Given the description of an element on the screen output the (x, y) to click on. 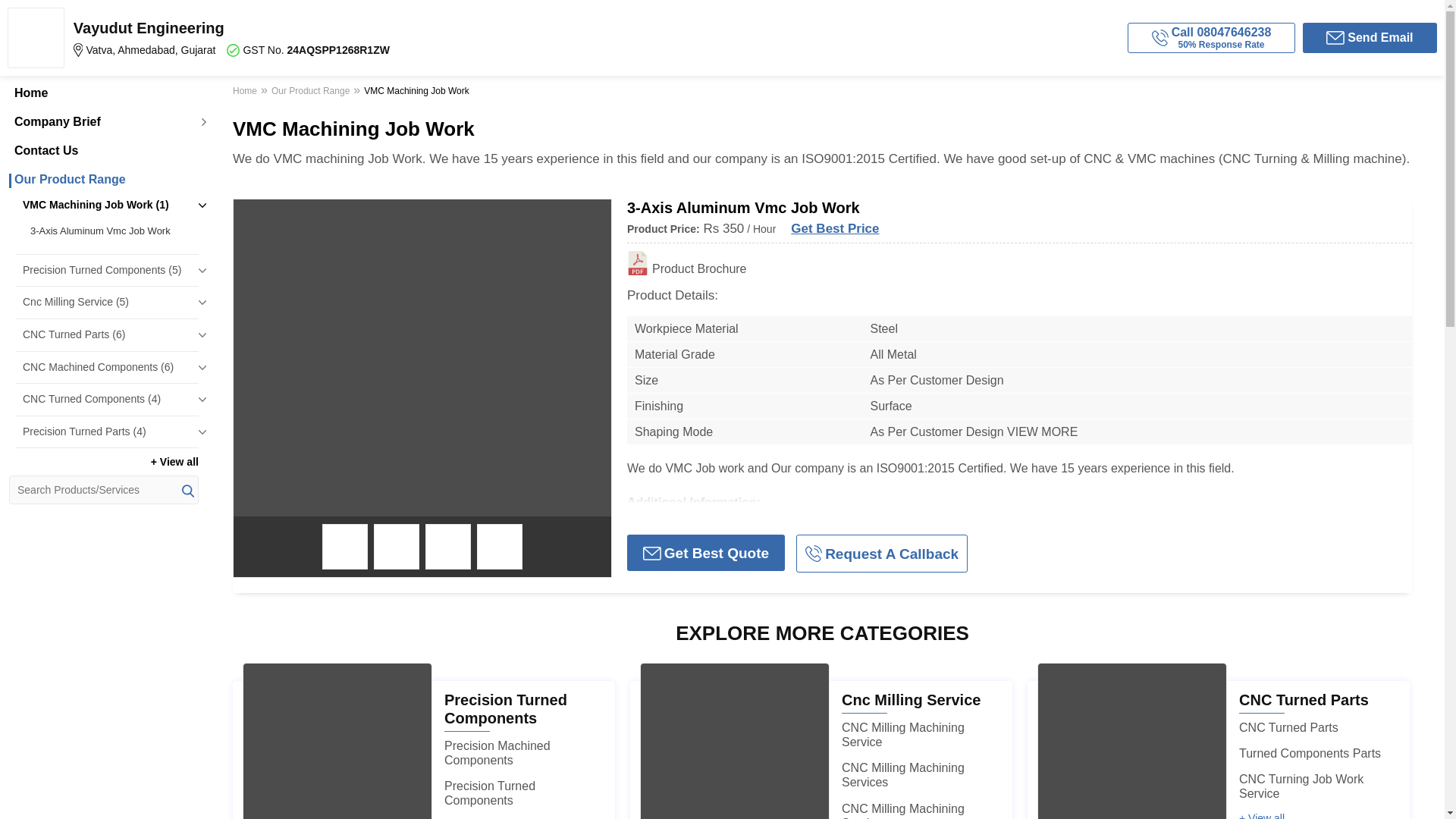
Our Product Range (103, 179)
Company Brief (103, 121)
Home (103, 92)
3-Axis Aluminum Vmc Job Work (110, 231)
Contact Us (103, 150)
